Given the description of an element on the screen output the (x, y) to click on. 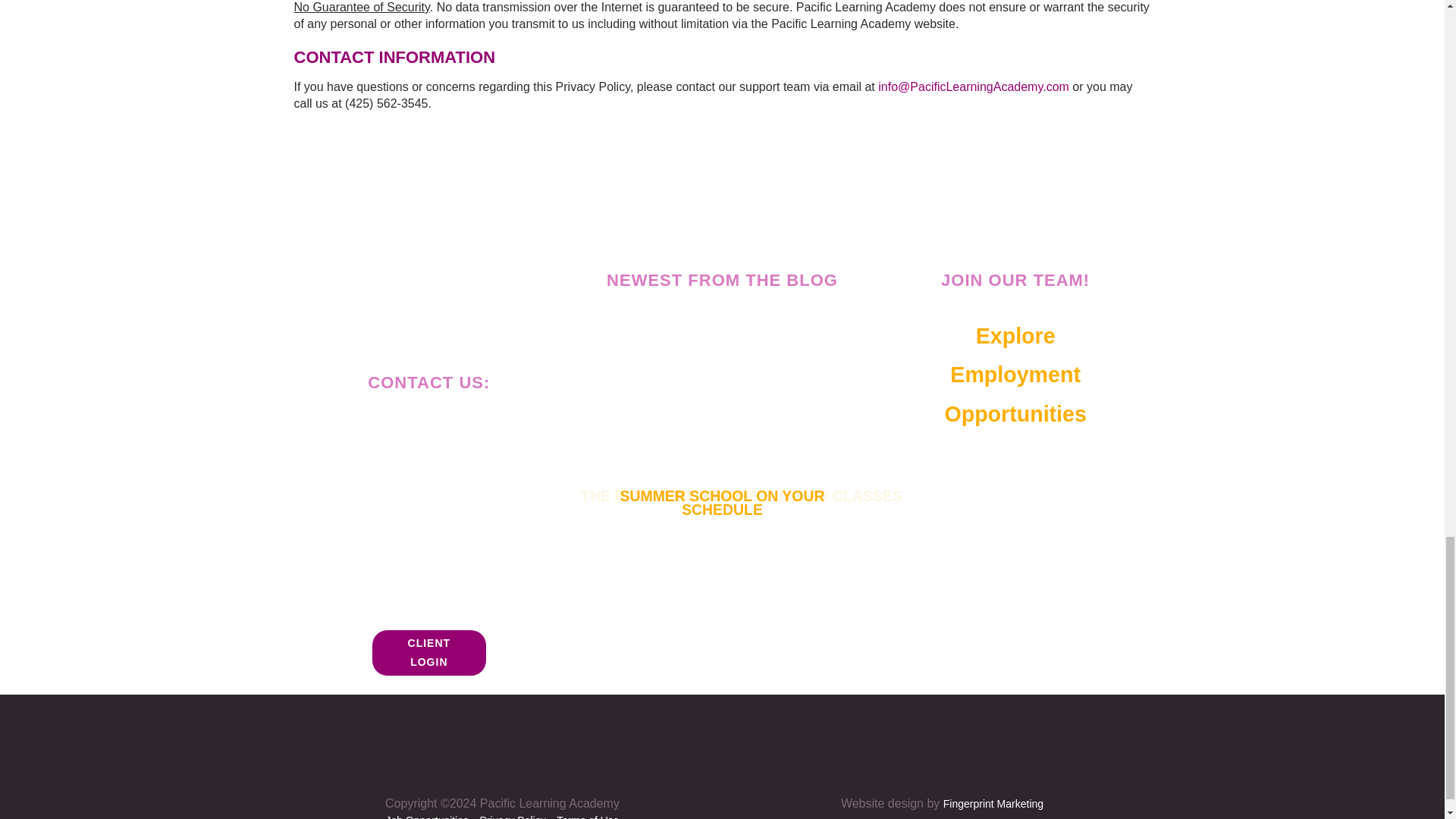
ONE-TO-ONE SUMMER CLASSES (788, 492)
425-562-3545 (449, 428)
Download Our Brochure (429, 549)
SUMMER SCHOOL ON YOUR SCHEDULE (1014, 374)
CLIENT LOGIN (726, 499)
THE PANDEMIC DITCH (429, 652)
Email Us (665, 492)
